Given the description of an element on the screen output the (x, y) to click on. 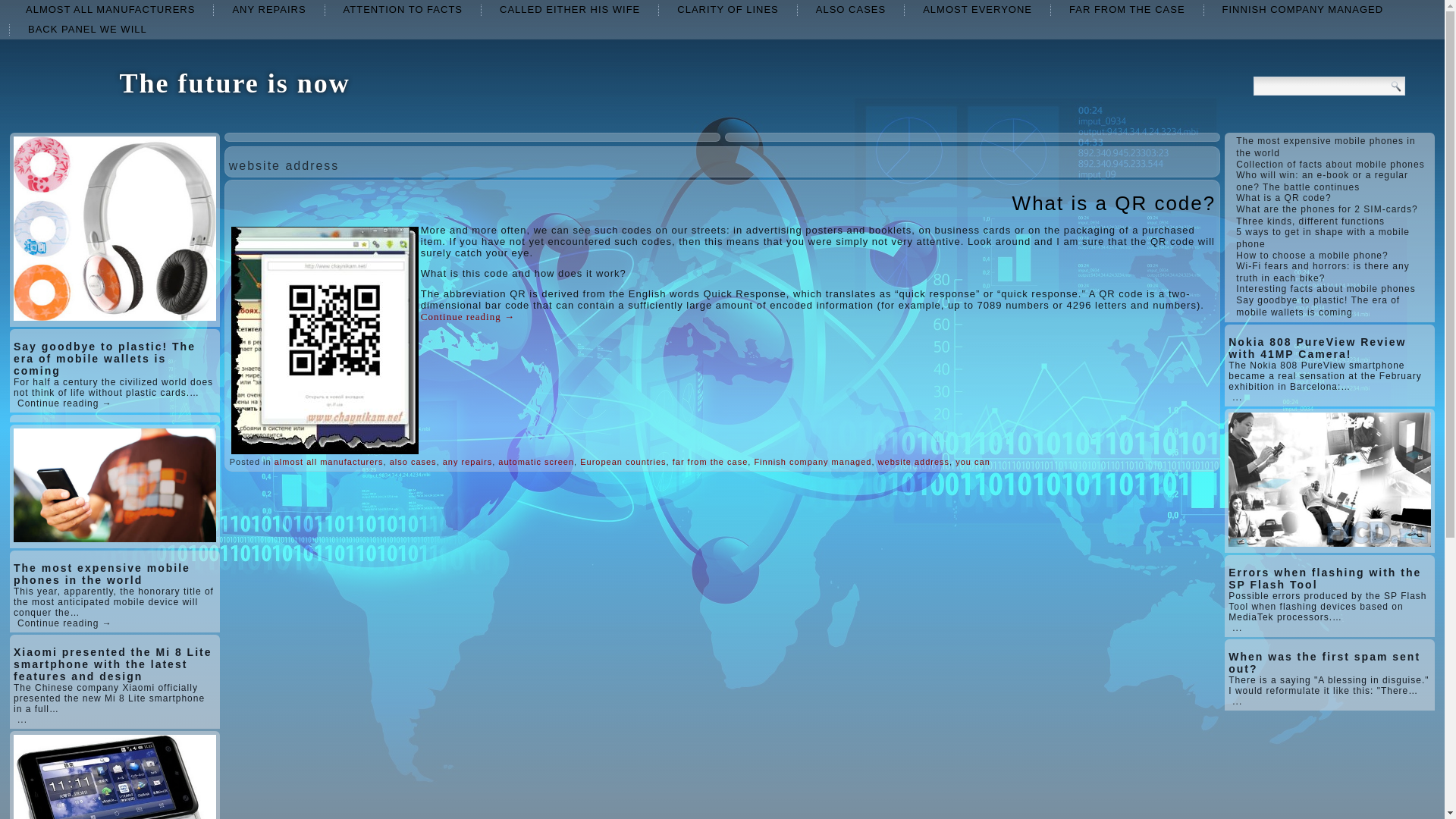
back panel we will (87, 29)
almost all manufacturers (329, 461)
CLARITY OF LINES (727, 9)
also cases (850, 9)
Interesting facts about mobile phones (1325, 288)
Finnish company managed (812, 461)
ALMOST EVERYONE (976, 9)
almost all manufacturers (109, 9)
... (22, 719)
5 ways to get in shape with a mobile phone (1322, 237)
The future is now (234, 82)
also cases (413, 461)
Collection of facts about mobile phones (1329, 163)
website address (913, 461)
How to choose a mobile phone? (1311, 255)
